Given the description of an element on the screen output the (x, y) to click on. 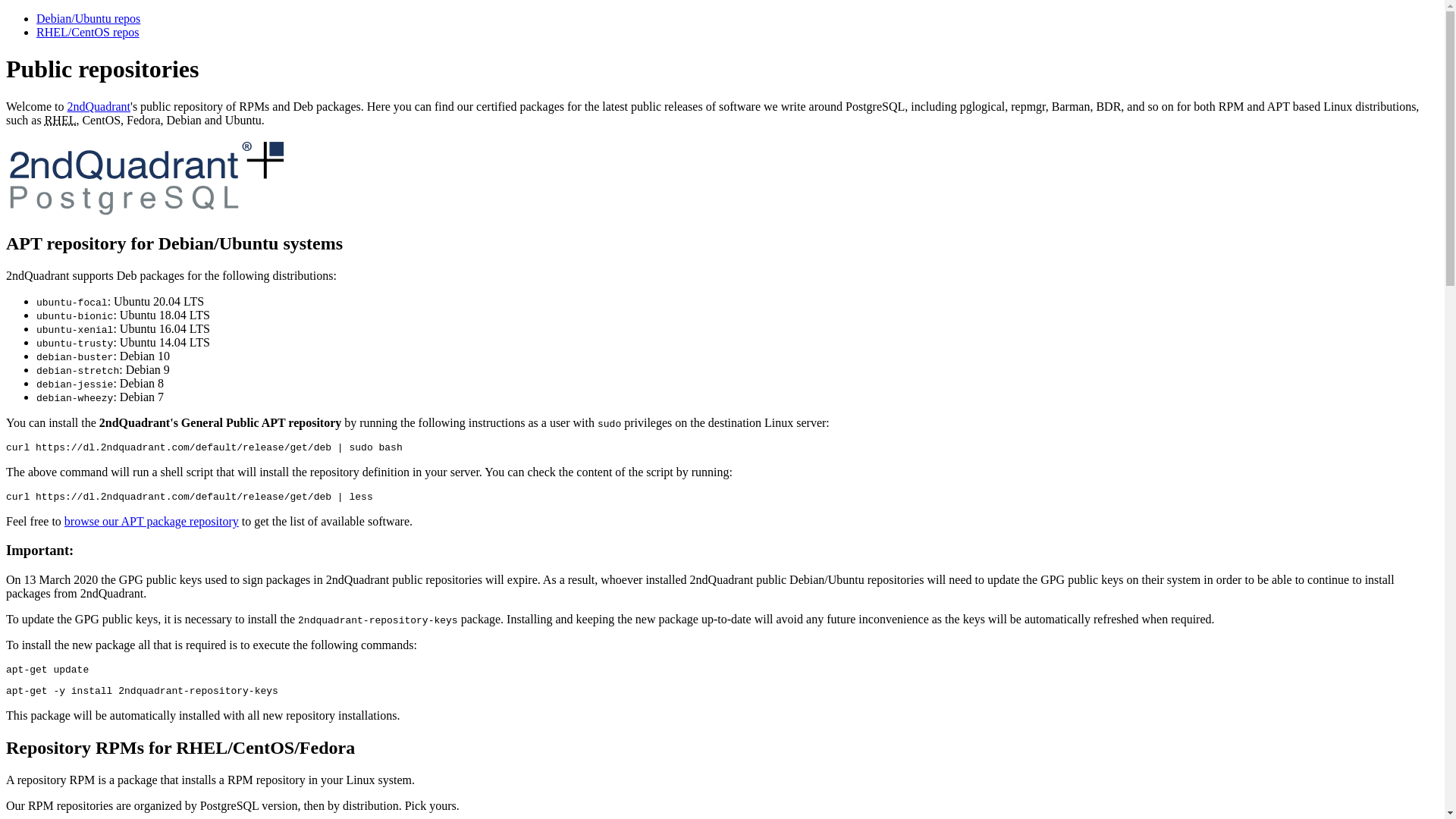
Debian/Ubuntu repos Element type: text (88, 18)
browse our APT package repository Element type: text (151, 520)
RHEL/CentOS repos Element type: text (87, 31)
2ndQuadrant Element type: text (98, 106)
